Given the description of an element on the screen output the (x, y) to click on. 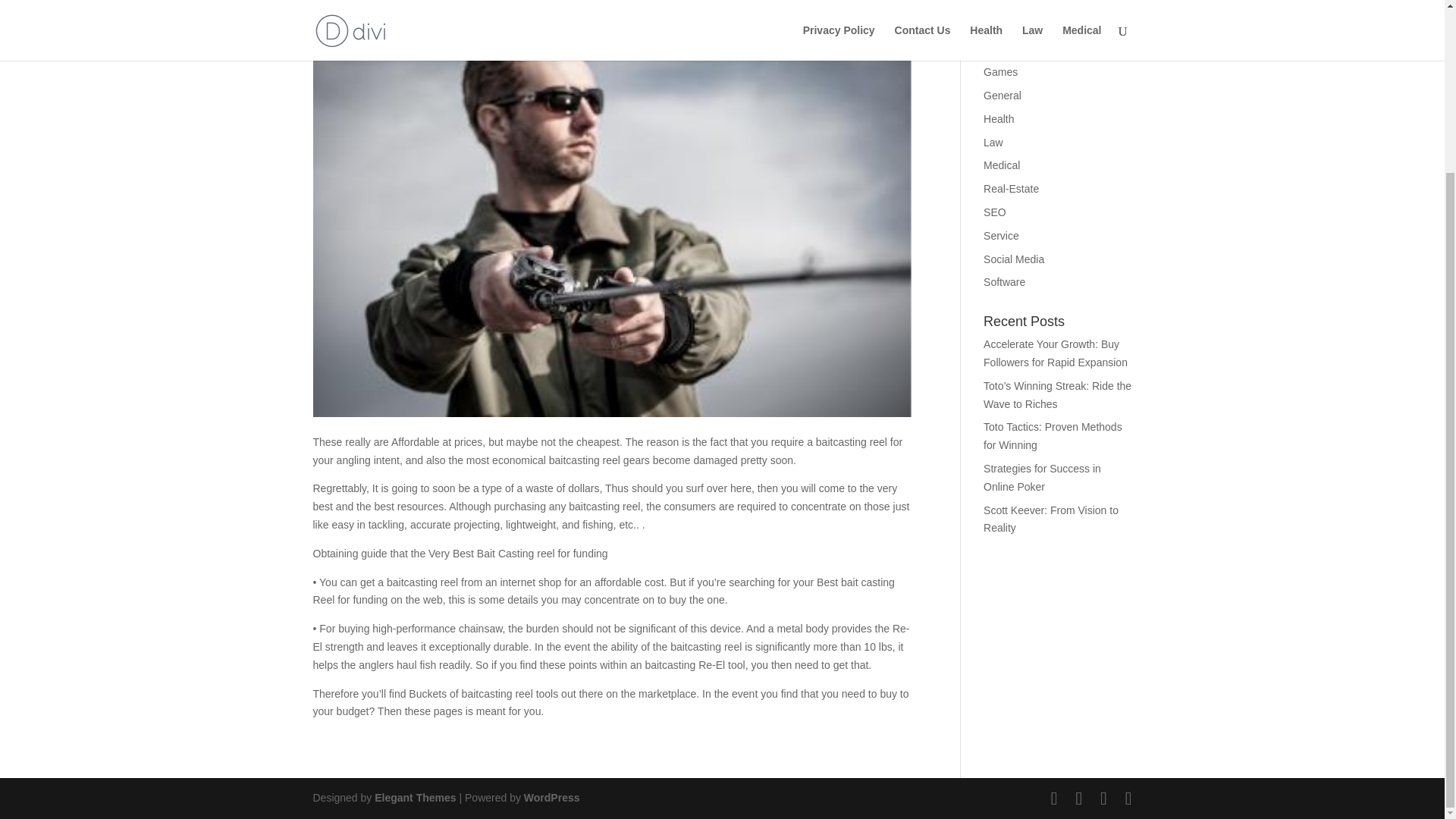
Accelerate Your Growth: Buy Followers for Rapid Expansion (1055, 353)
Entertainment (1016, 25)
Scott Keever: From Vision to Reality (1051, 519)
Elegant Themes (414, 797)
Health (998, 119)
Real-Estate (1011, 188)
General (1003, 95)
Software (1004, 282)
Education (1007, 4)
Medical (1002, 164)
